Given the description of an element on the screen output the (x, y) to click on. 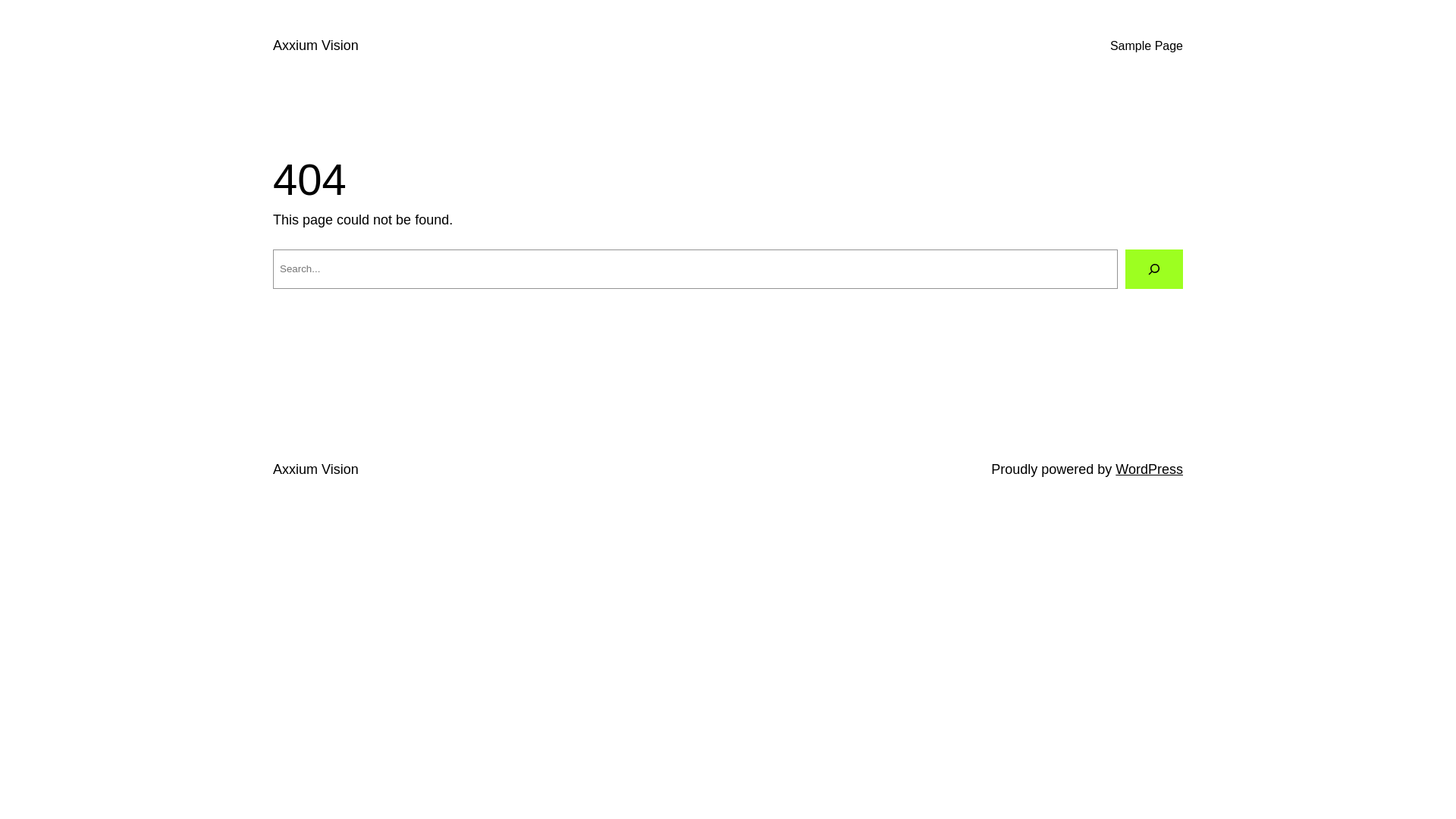
Axxium Vision Element type: text (315, 45)
Axxium Vision Element type: text (315, 468)
Sample Page Element type: text (1146, 46)
WordPress Element type: text (1149, 468)
